Given the description of an element on the screen output the (x, y) to click on. 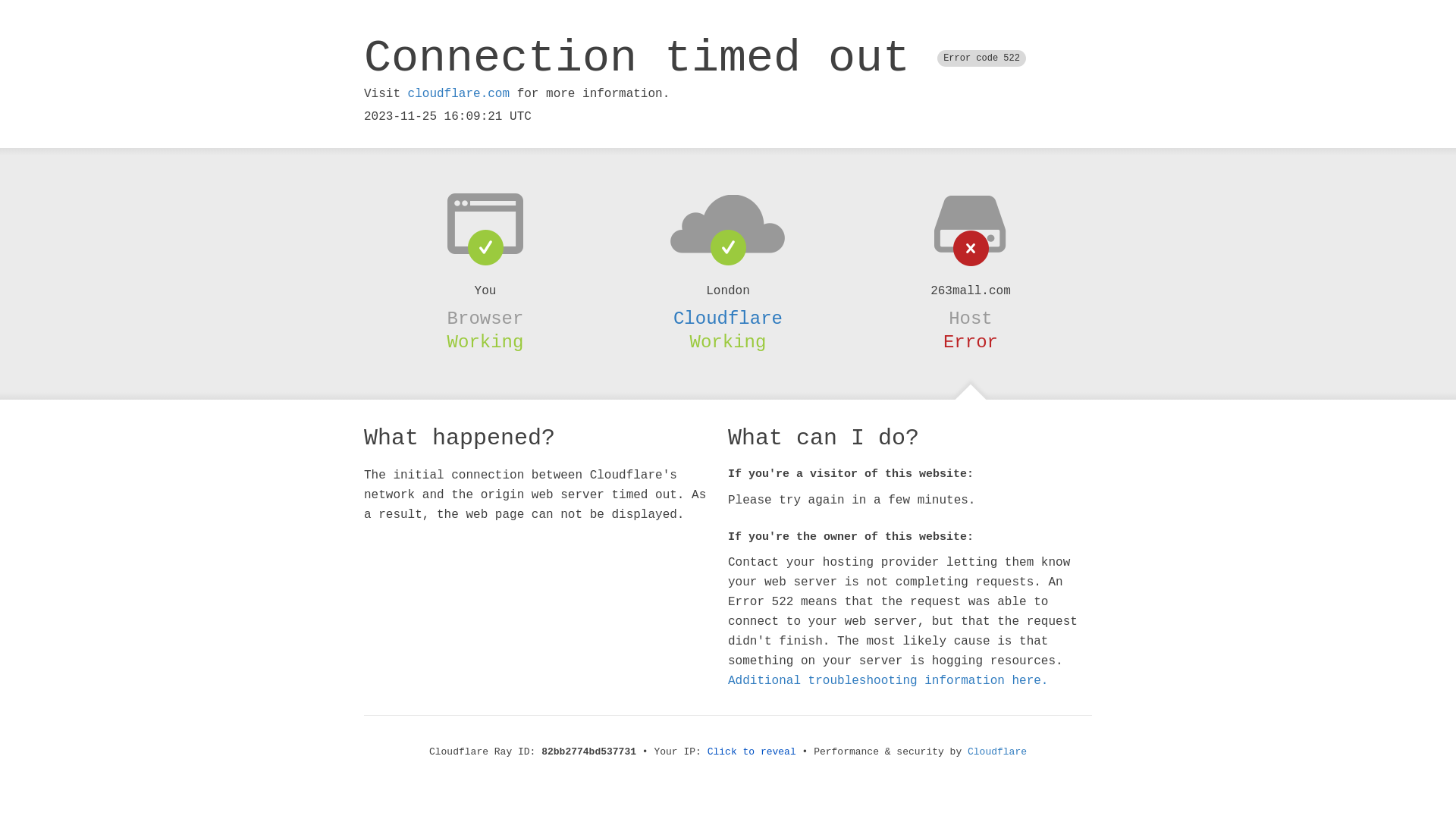
cloudflare.com Element type: text (458, 93)
Cloudflare Element type: text (727, 318)
Additional troubleshooting information here. Element type: text (888, 680)
Cloudflare Element type: text (996, 751)
Click to reveal Element type: text (751, 751)
